Given the description of an element on the screen output the (x, y) to click on. 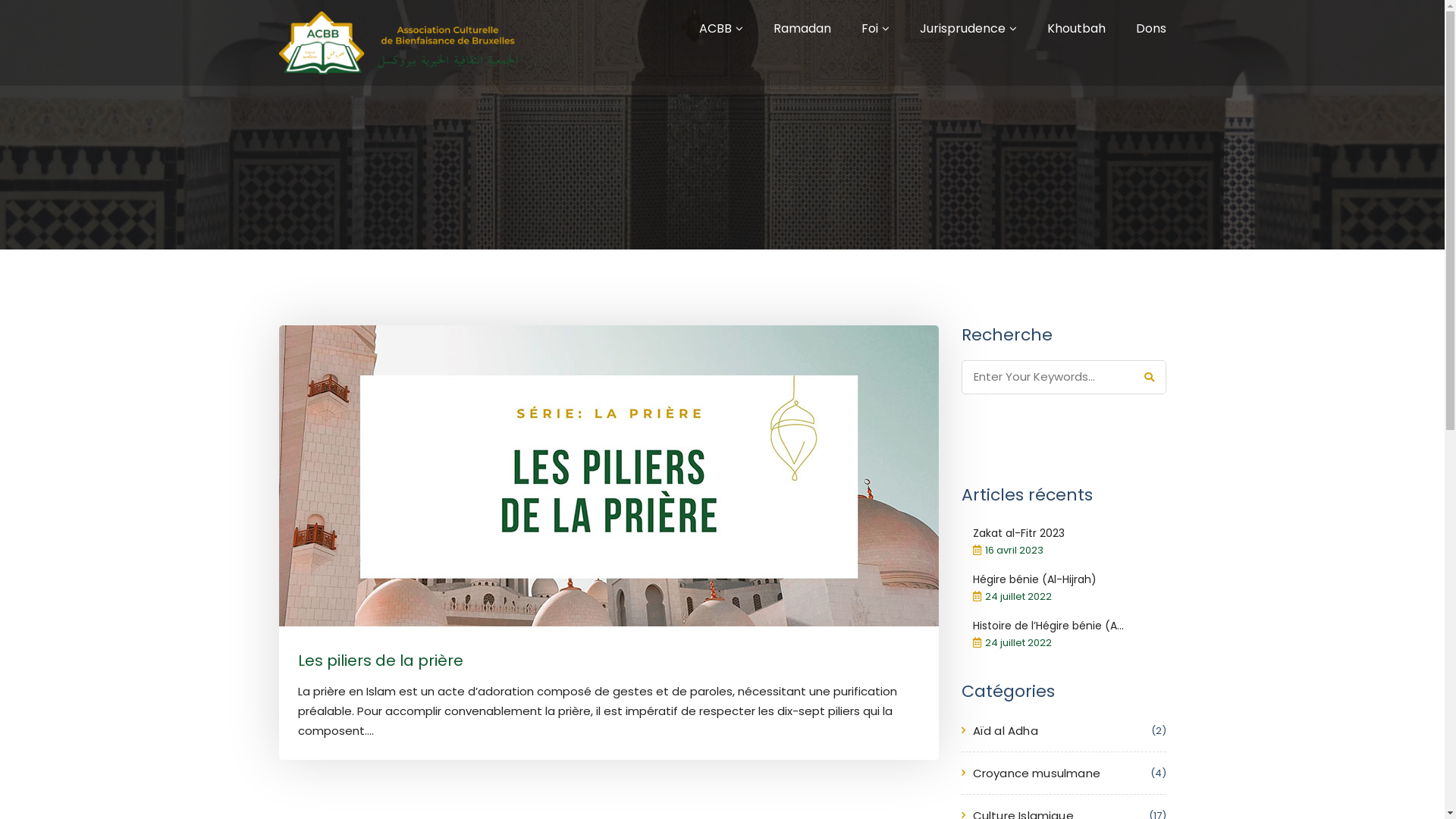
Dons Element type: text (1150, 28)
Ramadan Element type: text (802, 28)
Croyance musulmane Element type: text (1036, 772)
Khoutbah Element type: text (1075, 28)
Foi Element type: text (869, 28)
Zakat al-Fitr 2023 Element type: text (1017, 532)
ACBB Element type: text (715, 28)
Jurisprudence Element type: text (961, 28)
